Given the description of an element on the screen output the (x, y) to click on. 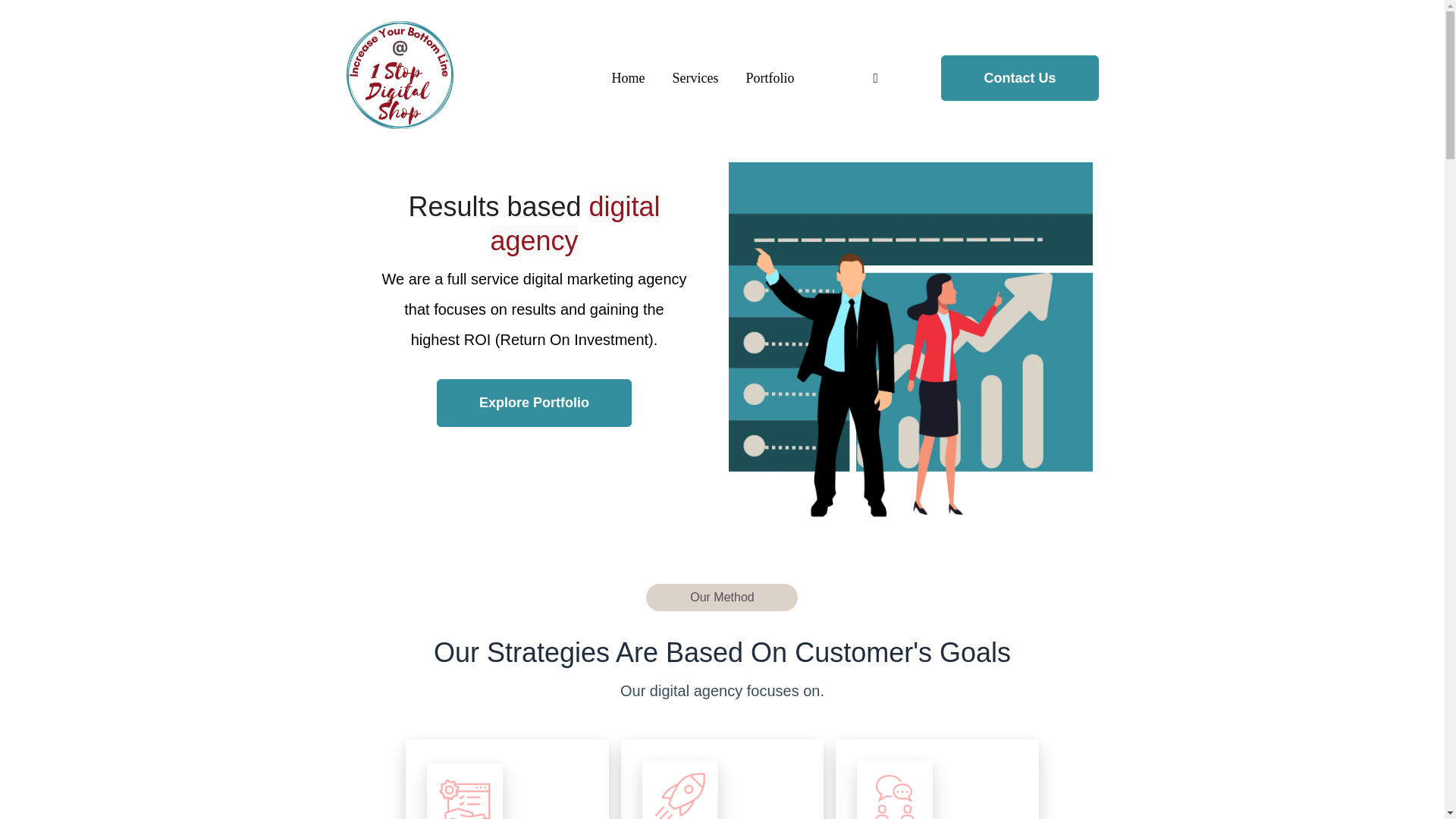
Services (694, 77)
Explore Portfolio (533, 402)
Home (628, 77)
Contact Us (1018, 78)
Portfolio (769, 77)
